Given the description of an element on the screen output the (x, y) to click on. 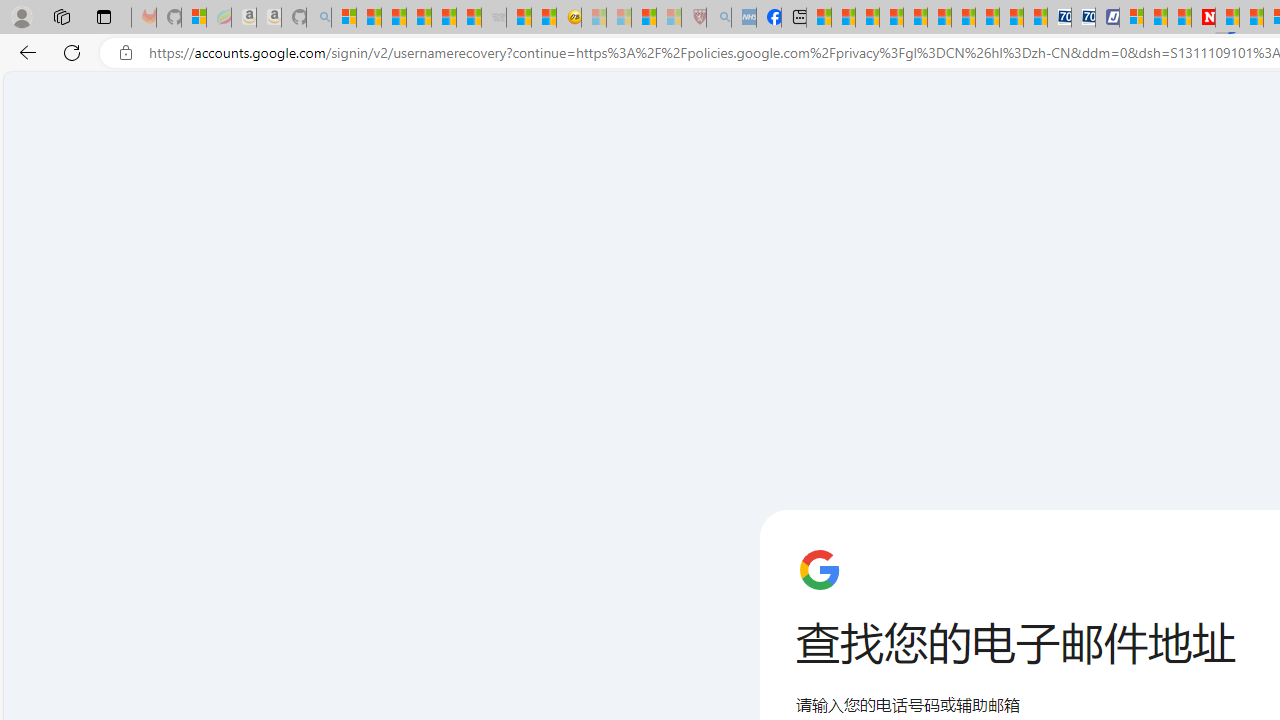
14 Common Myths Debunked By Scientific Facts (1251, 17)
Science - MSN (644, 17)
